Given the description of an element on the screen output the (x, y) to click on. 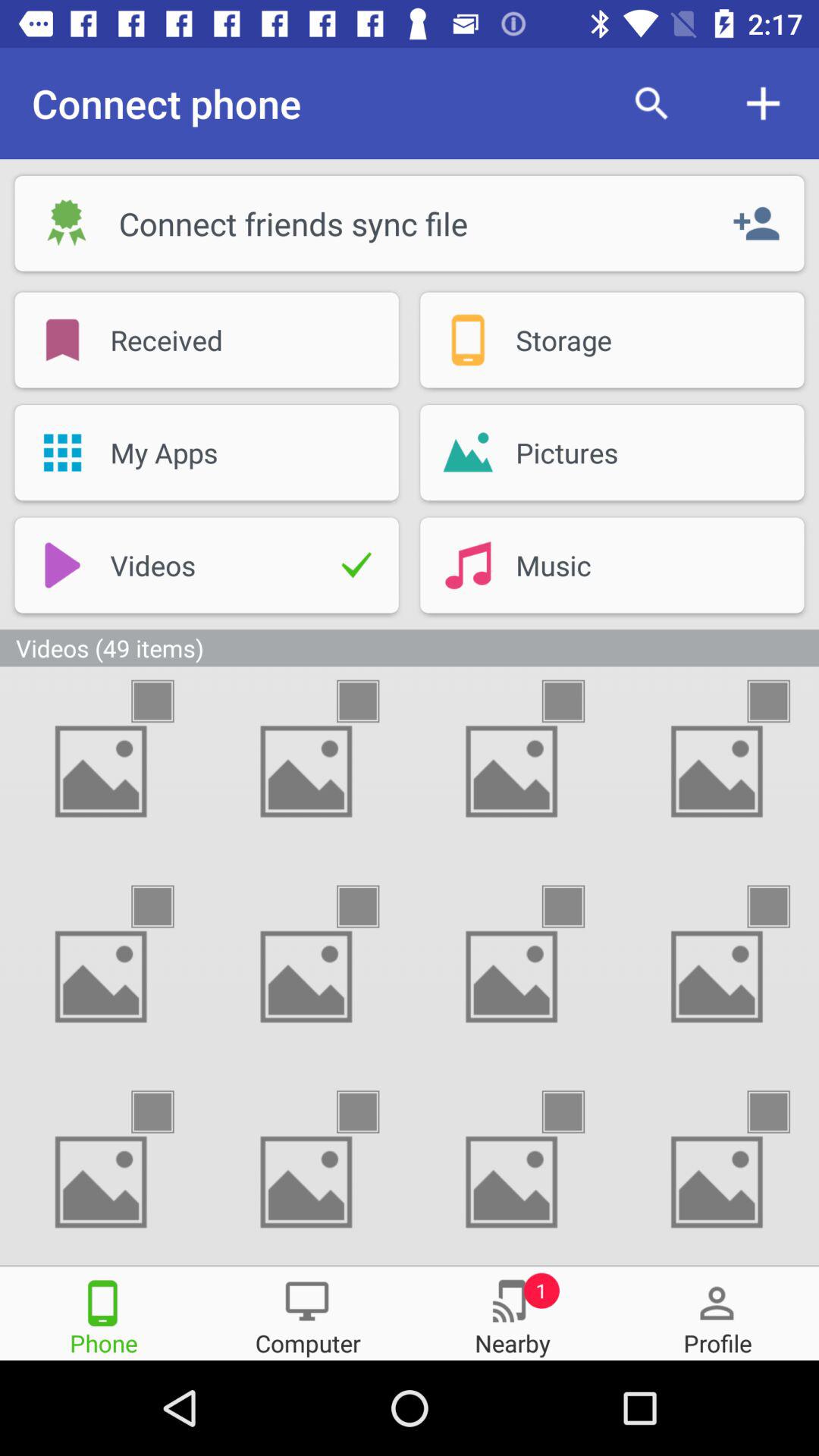
select image (576, 1111)
